Given the description of an element on the screen output the (x, y) to click on. 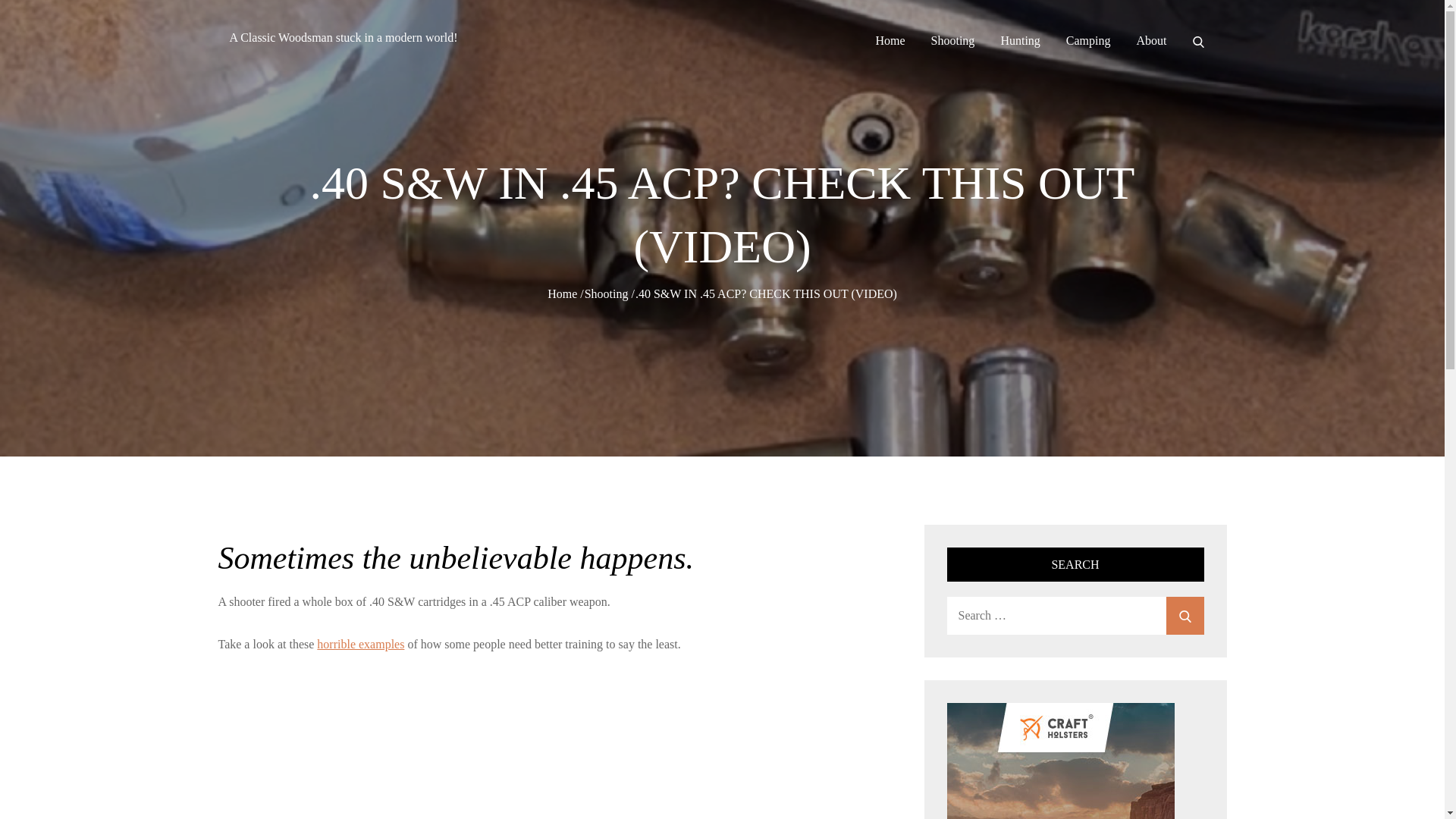
Shooting (953, 40)
Shooting (606, 293)
Hunting (1019, 40)
Search (1185, 615)
horrible examples (360, 644)
Home (561, 293)
Camping (1087, 40)
